Given the description of an element on the screen output the (x, y) to click on. 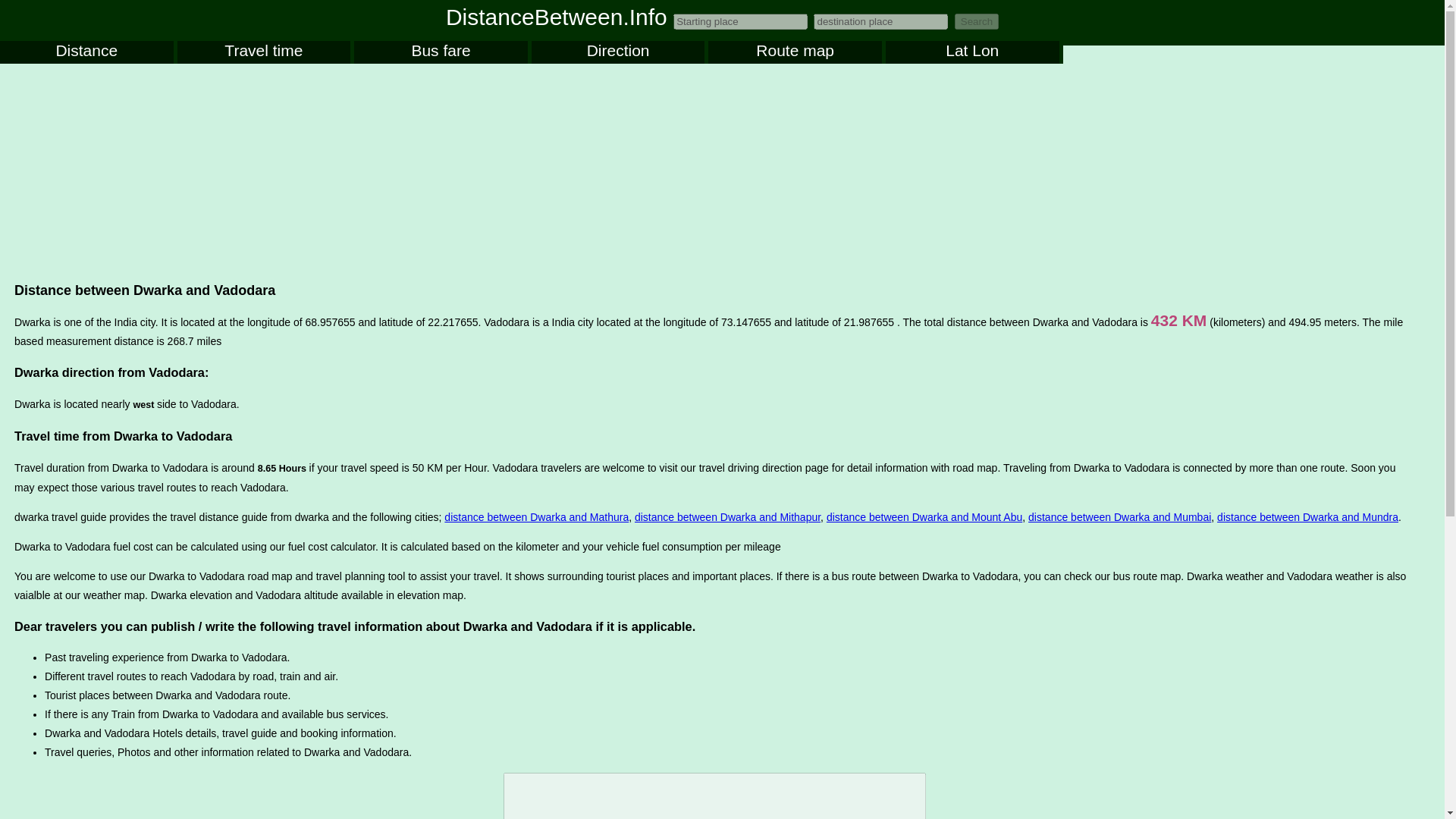
distance between Dwarka and Mumbai (1119, 517)
Route map (794, 51)
Search (976, 21)
Starting place (740, 21)
Distance (86, 51)
Lat Lon (972, 51)
destination place (880, 21)
Direction (617, 51)
Travel time (263, 51)
distance between Dwarka and Mithapur (727, 517)
distance between Dwarka and Mundra (1307, 517)
distance between Dwarka and Mathura (536, 517)
Bus fare (440, 51)
distance between Dwarka and Mount Abu (924, 517)
